Given the description of an element on the screen output the (x, y) to click on. 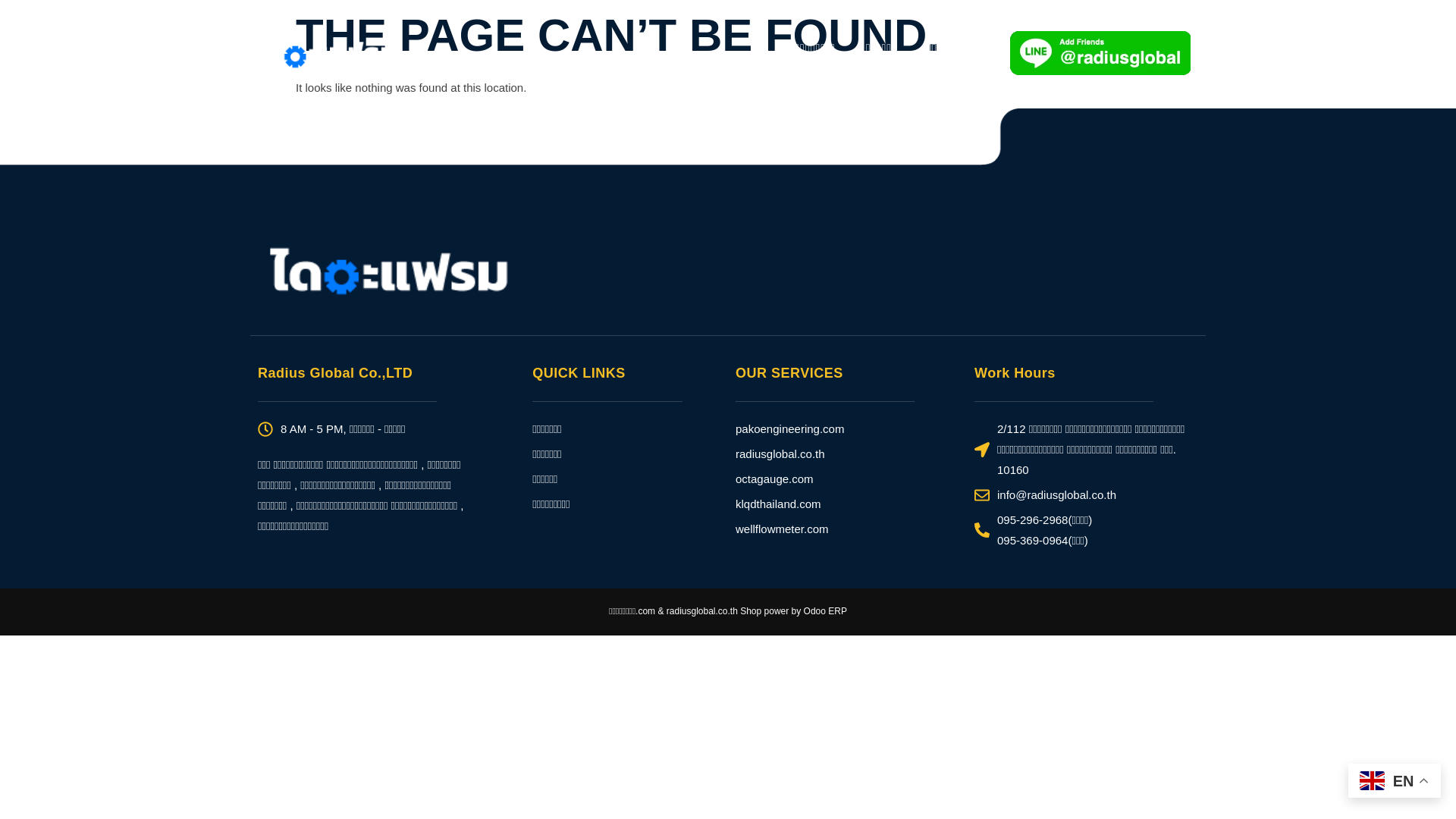
octagauge.com (847, 478)
klqdthailand.com (847, 503)
pakoengineering.com (847, 428)
radiusglobal.co.th (847, 453)
wellflowmeter.com (847, 528)
